Given the description of an element on the screen output the (x, y) to click on. 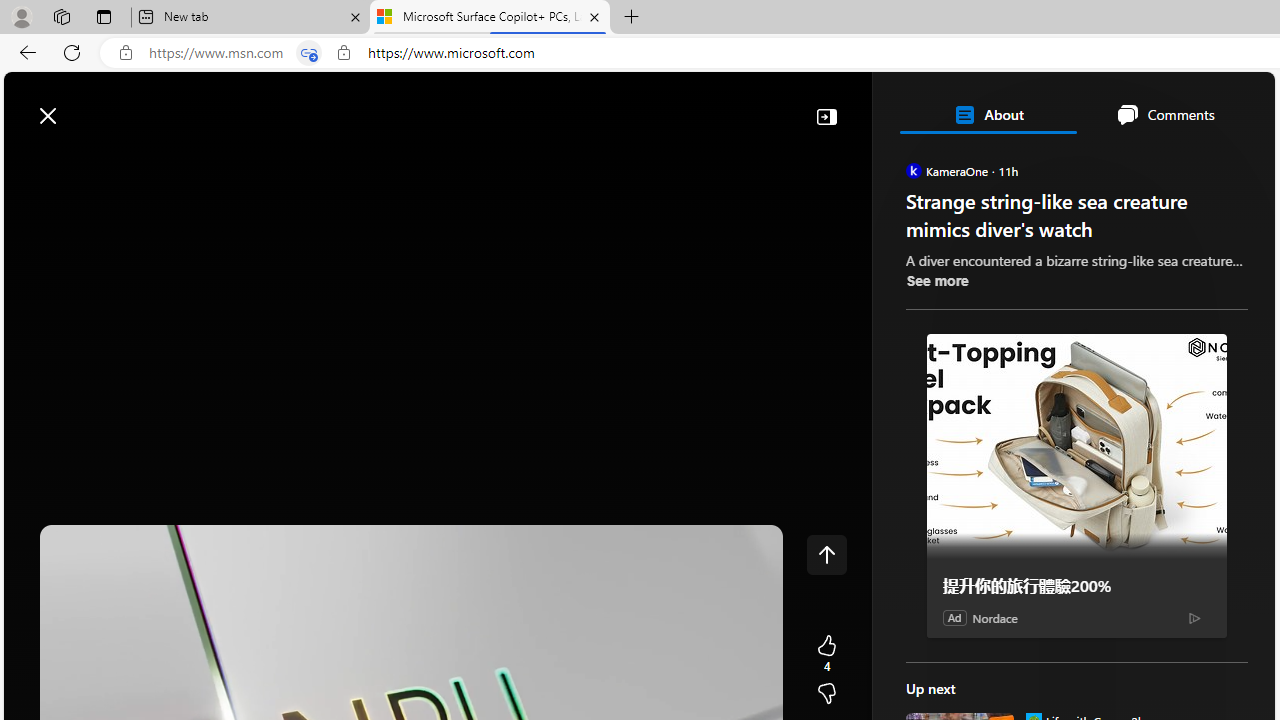
Skip to content (86, 105)
Dislike (826, 693)
Watch (249, 162)
